Given the description of an element on the screen output the (x, y) to click on. 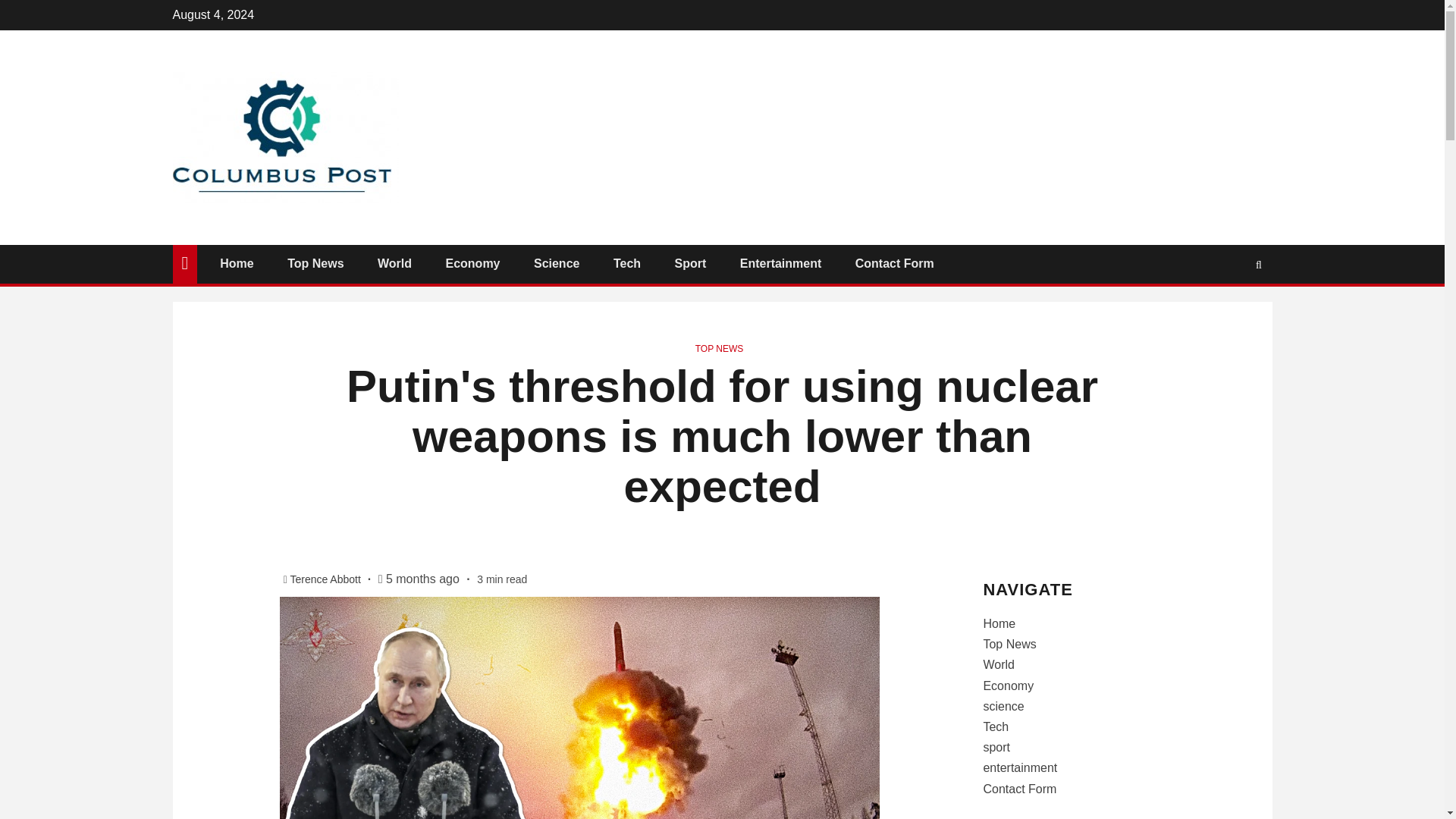
TOP NEWS (719, 348)
Entertainment (780, 263)
World (394, 263)
Science (556, 263)
Top News (314, 263)
Sport (690, 263)
Search (1229, 309)
Home (236, 263)
Contact Form (895, 263)
Terence Abbott (325, 579)
Tech (626, 263)
Economy (472, 263)
